Given the description of an element on the screen output the (x, y) to click on. 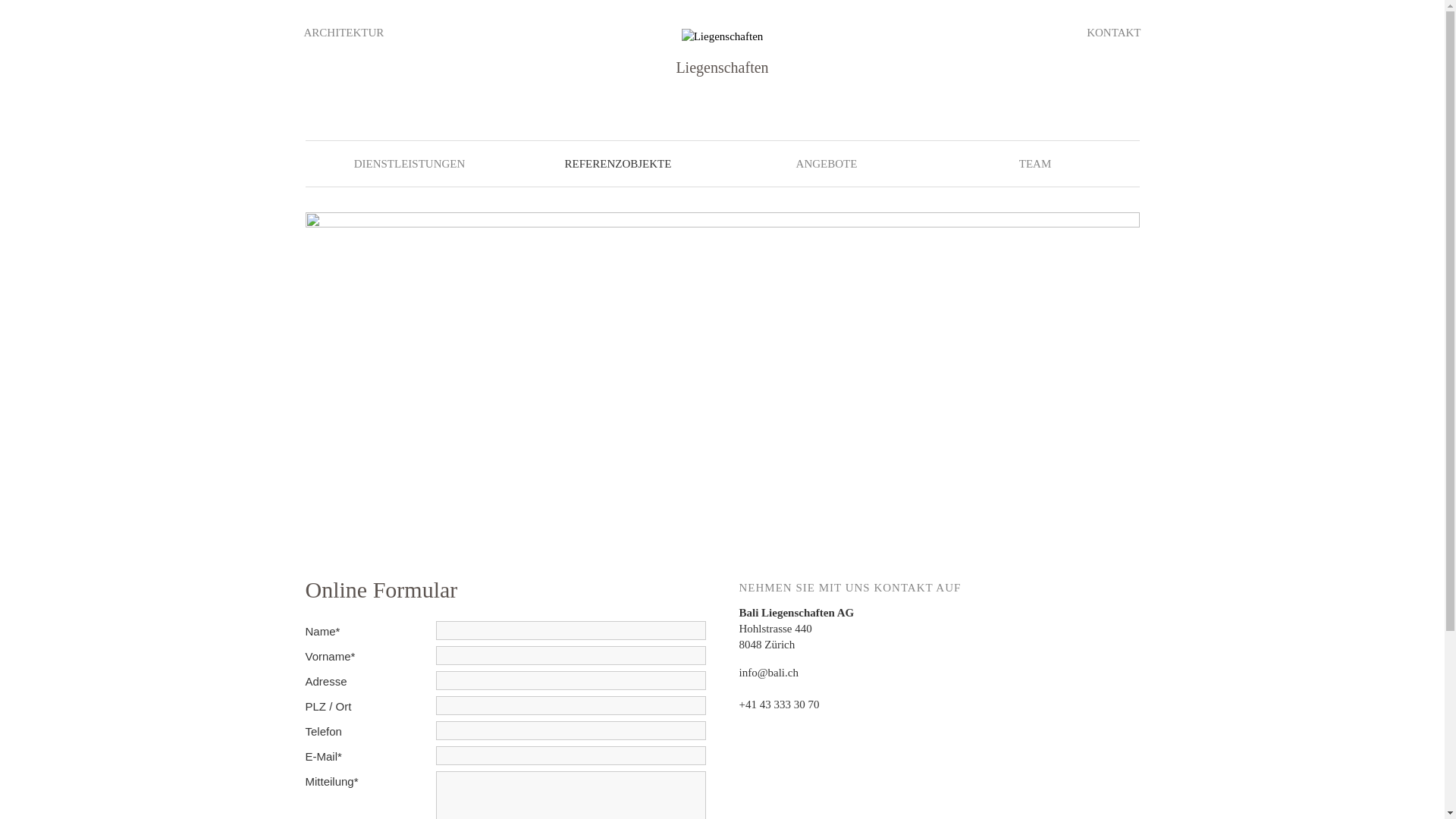
DIENSTLEISTUNGEN Element type: text (408, 163)
ANGEBOTE Element type: text (825, 163)
Liegenschaften Element type: text (722, 36)
KONTAKT Element type: text (1113, 32)
TEAM Element type: text (1035, 163)
ARCHITEKTUR Element type: text (343, 32)
Liegenschaften Element type: hover (722, 36)
